Given the description of an element on the screen output the (x, y) to click on. 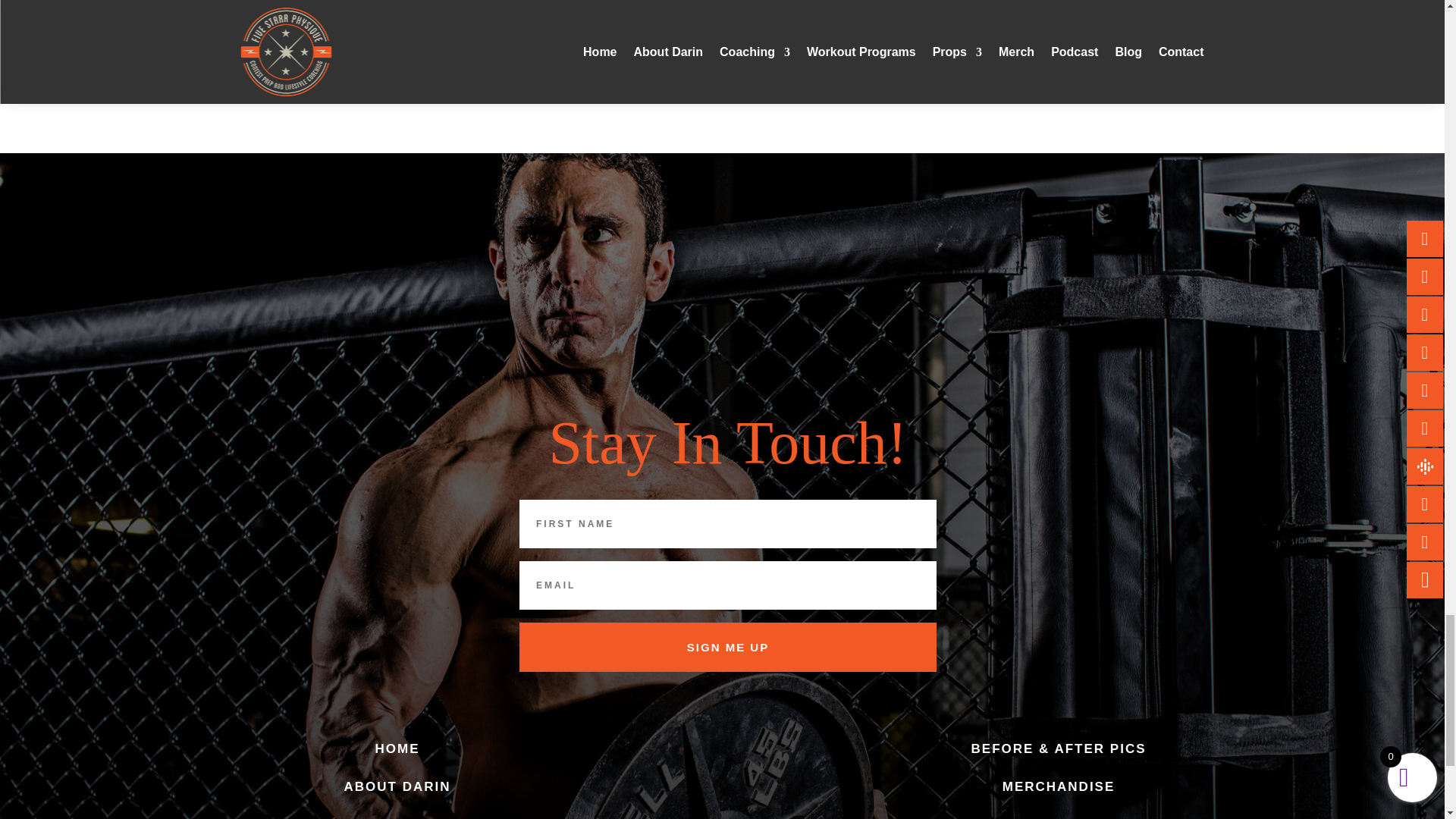
Five Starr Physique Logo (726, 778)
